Given the description of an element on the screen output the (x, y) to click on. 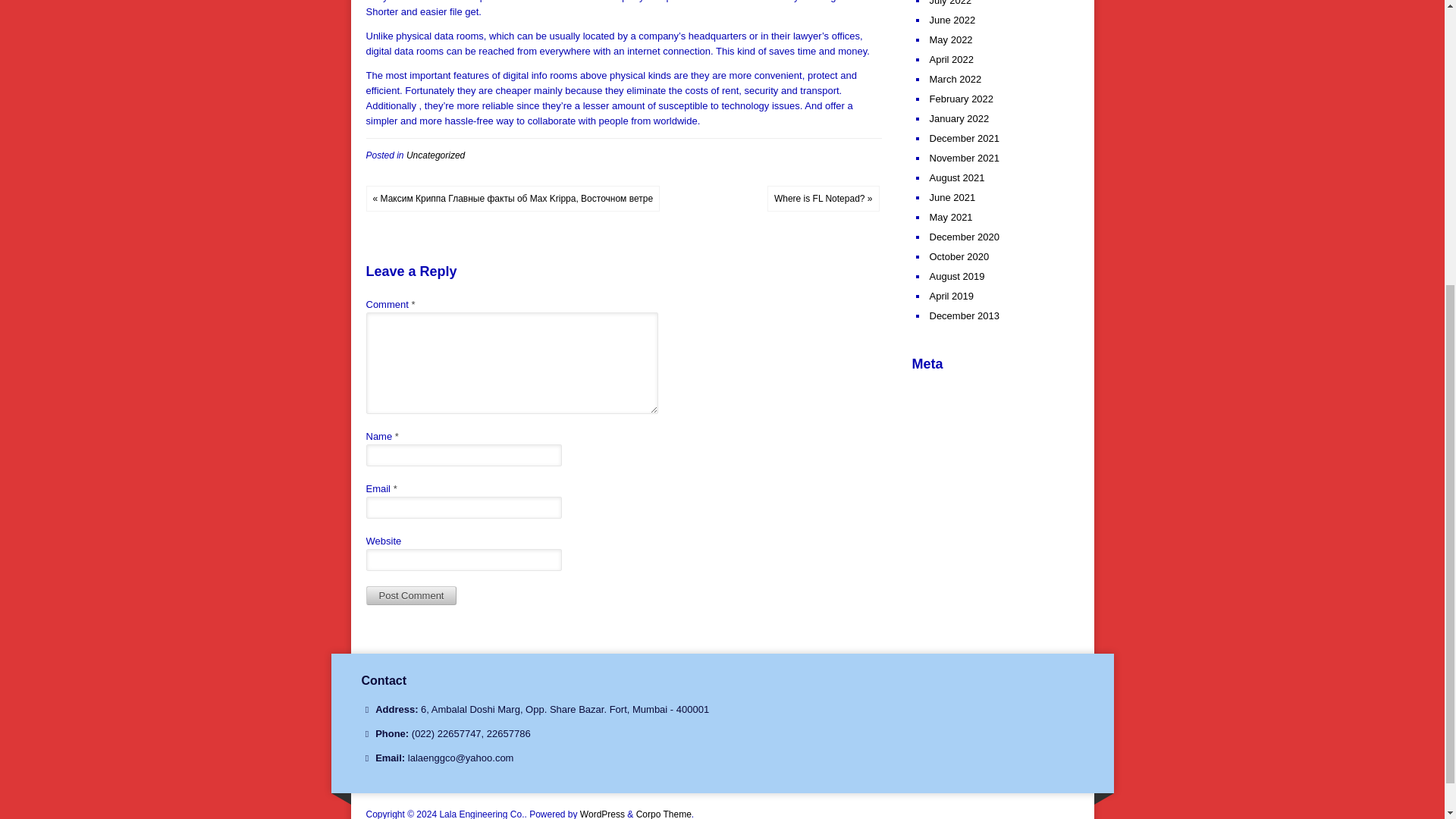
July 2022 (951, 2)
November 2021 (965, 157)
August 2021 (957, 177)
December 2021 (965, 138)
May 2022 (951, 39)
May 2021 (951, 216)
Uncategorized (435, 154)
Post Comment (411, 595)
Post Comment (411, 595)
January 2022 (960, 118)
